Given the description of an element on the screen output the (x, y) to click on. 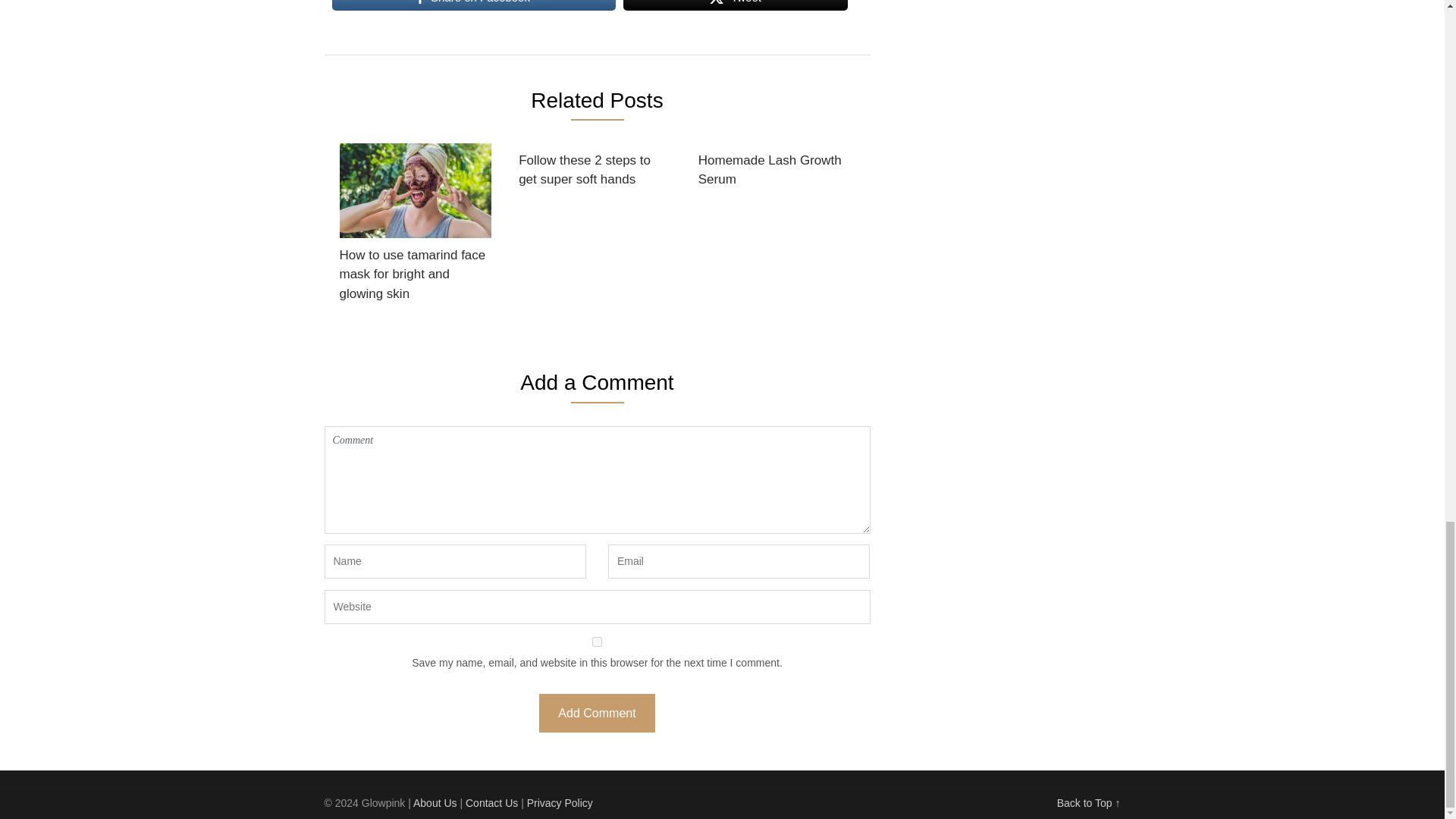
Share on Facebook (473, 6)
Contact Us (491, 802)
Add Comment (595, 712)
Homemade Lash Growth Serum (774, 170)
How to use tamarind face mask for bright and glowing skin (415, 227)
Follow these 2 steps to get super soft hands (593, 170)
Add Comment (595, 712)
yes (597, 642)
About Us (435, 802)
Homemade Lash Growth Serum (774, 170)
